Given the description of an element on the screen output the (x, y) to click on. 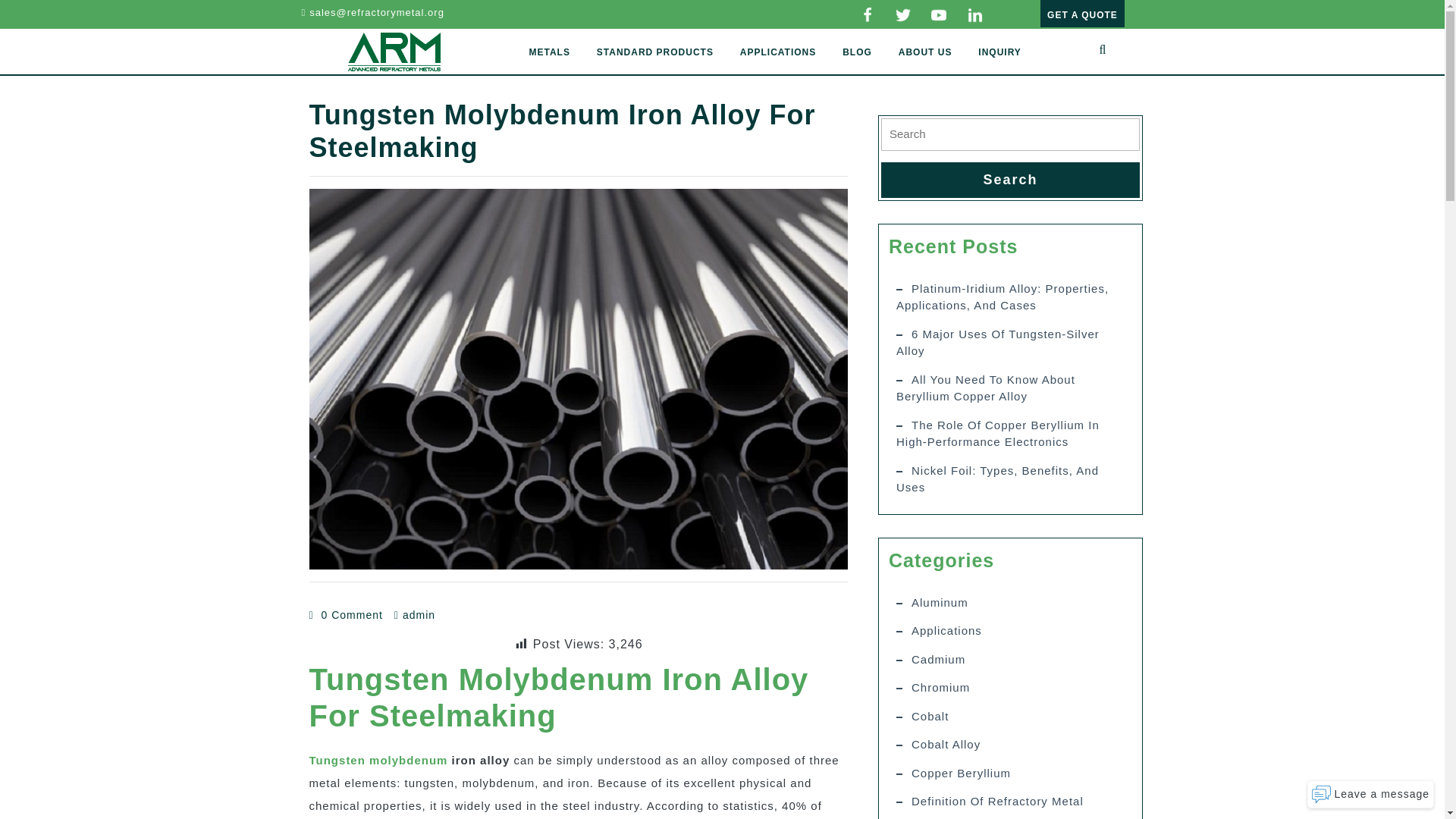
GET A QUOTE (1082, 13)
METALS (548, 51)
STANDARD PRODUCTS (655, 51)
Search (1010, 180)
BLOG (857, 51)
Search (1010, 180)
ABOUT US (924, 51)
APPLICATIONS (778, 51)
